Given the description of an element on the screen output the (x, y) to click on. 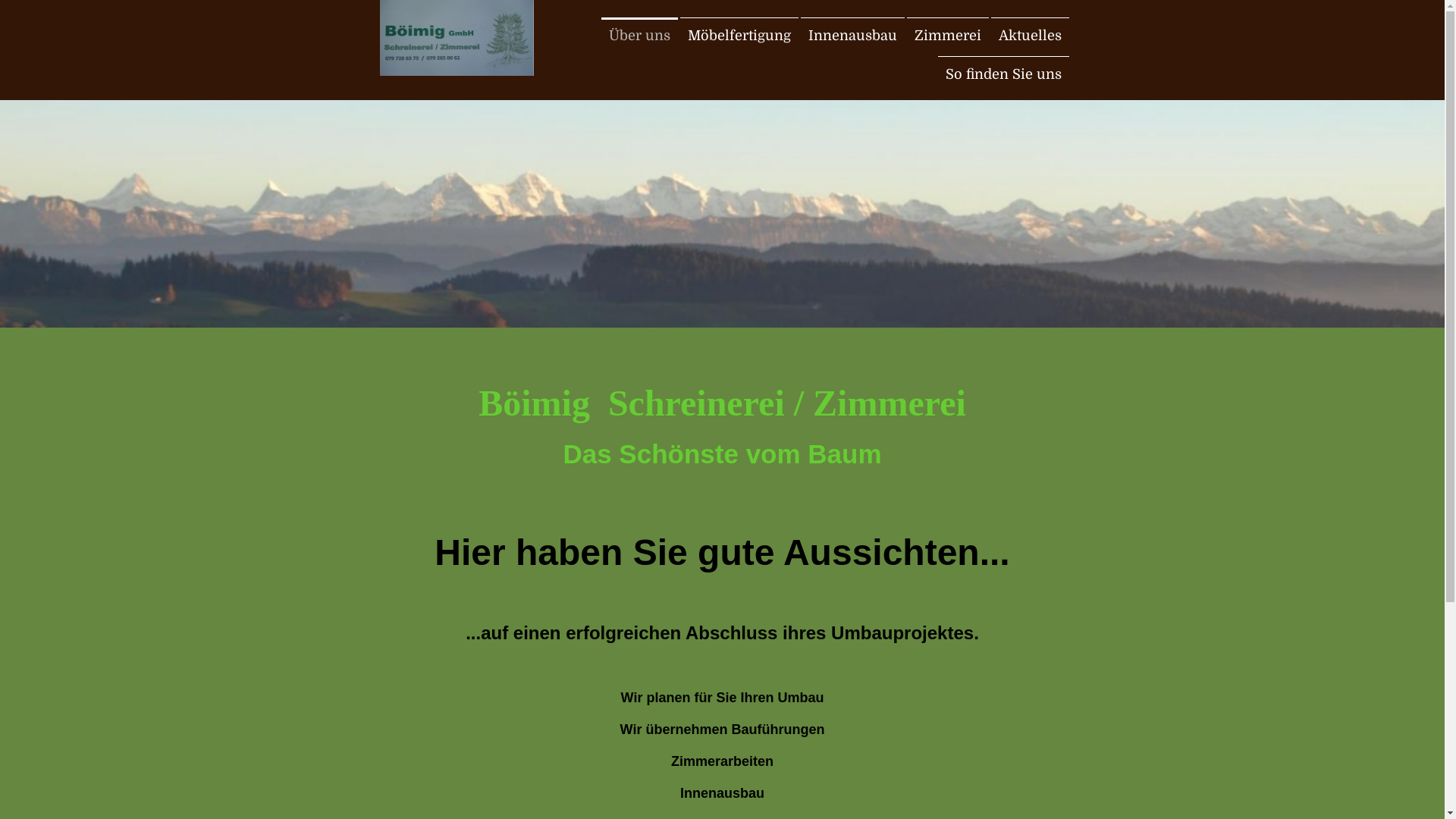
Zimmerei Element type: text (947, 35)
Aktuelles Element type: text (1029, 35)
So finden Sie uns Element type: text (1002, 73)
Innenausbau Element type: text (852, 35)
